Given the description of an element on the screen output the (x, y) to click on. 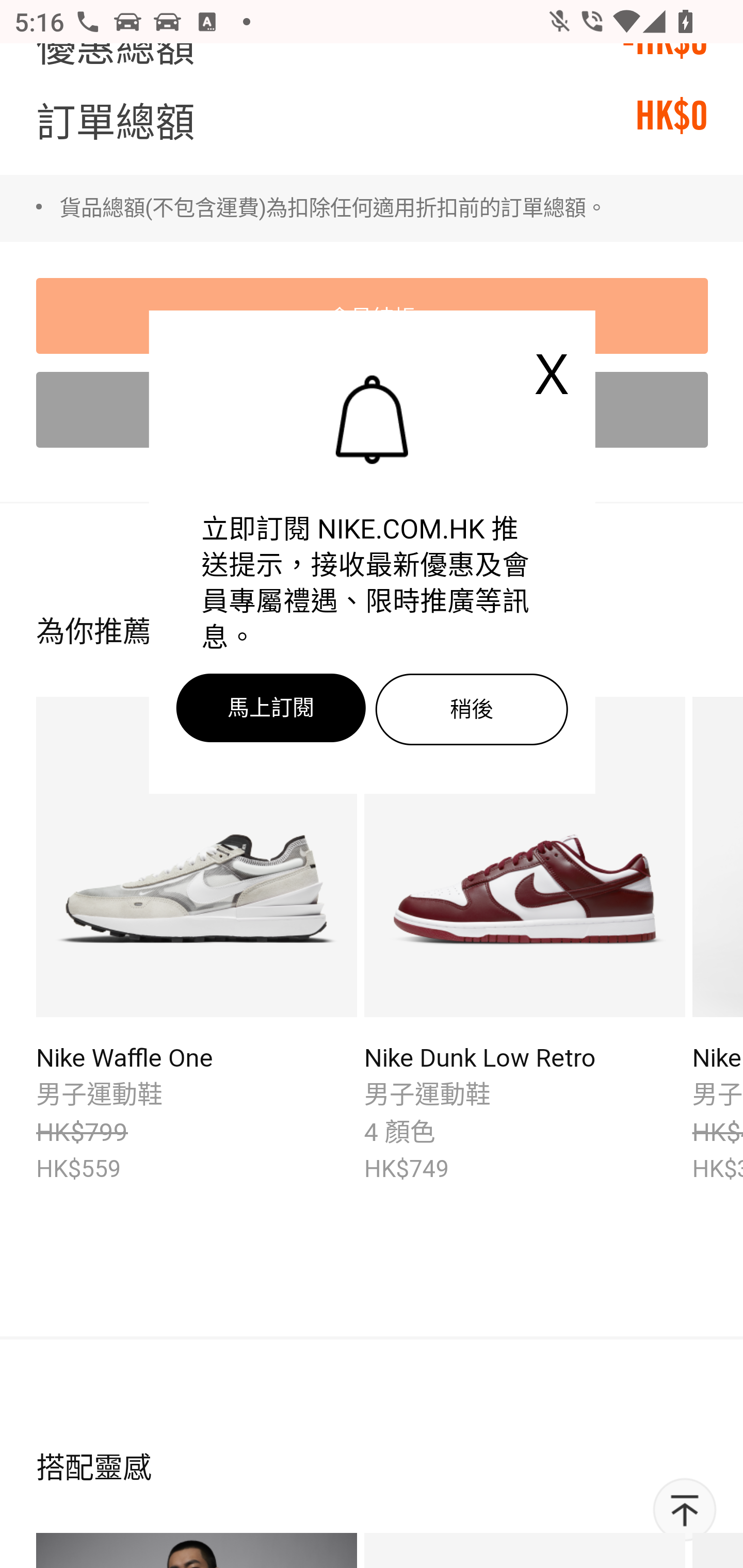
會員結帳 (372, 316)
非會員結帳 (372, 410)
DA7995-100_M1 (196, 860)
DD1391-601_M1 (524, 860)
